Given the description of an element on the screen output the (x, y) to click on. 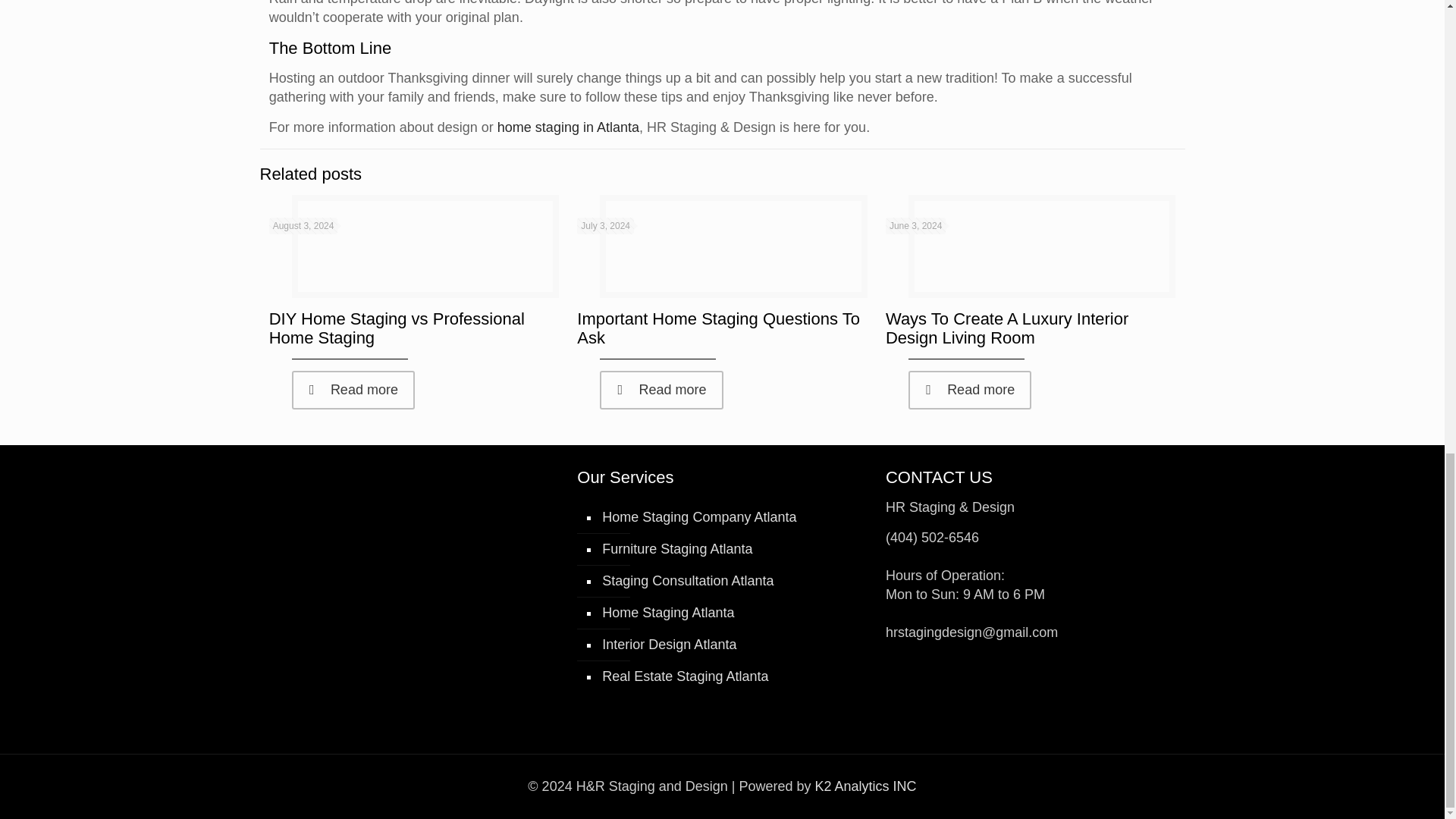
Read more (660, 390)
Read more (353, 390)
home staging in Atlanta (568, 127)
DIY Home Staging vs Professional Home Staging (396, 328)
Important Home Staging Questions To Ask (718, 328)
